Given the description of an element on the screen output the (x, y) to click on. 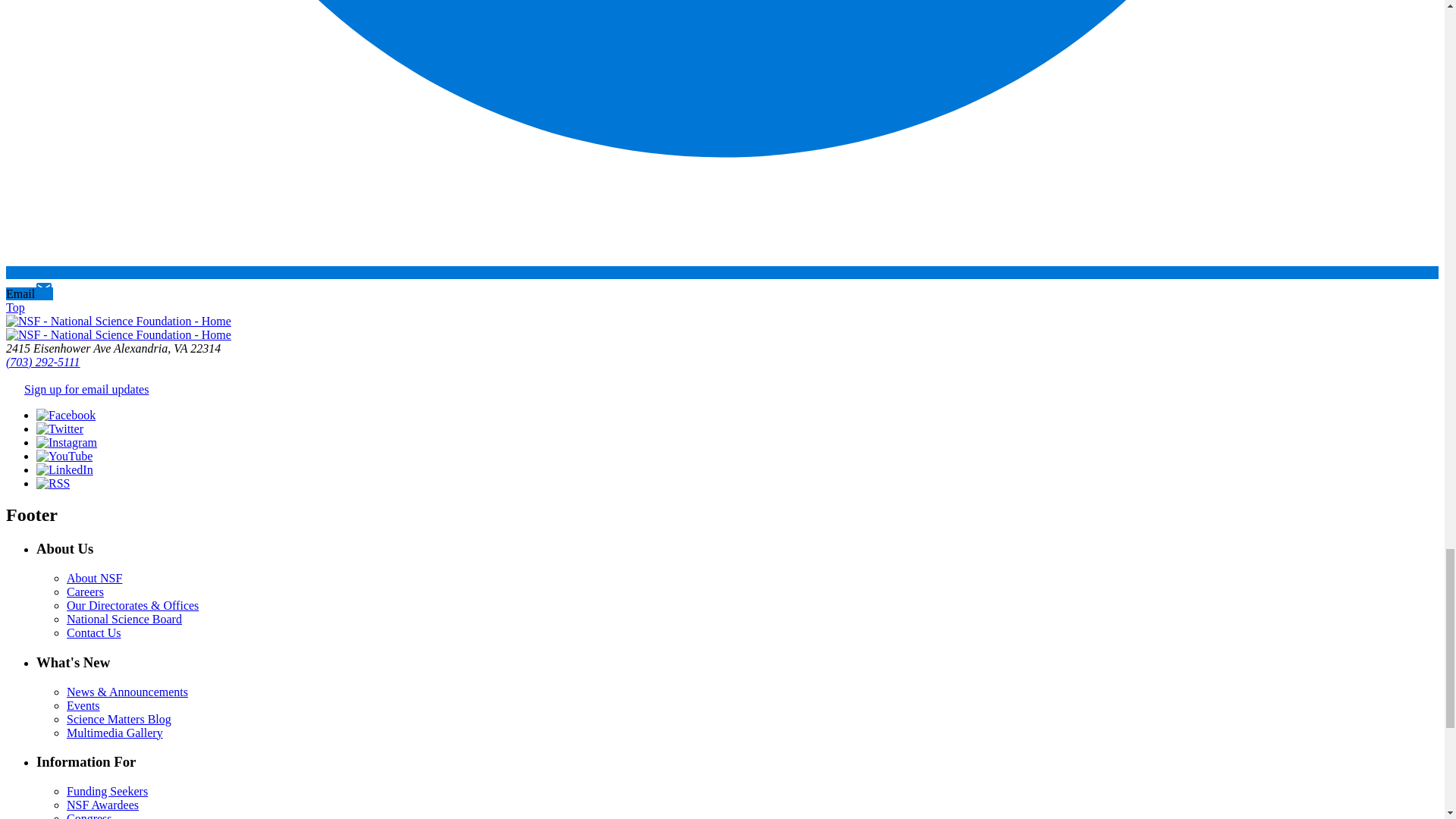
Events (83, 705)
Science Matters Blog (118, 718)
Careers (84, 591)
About NSF (94, 577)
National Science Board (124, 618)
Sign up for email updates (86, 389)
Email (28, 293)
Top (14, 307)
Multimedia Gallery (114, 732)
Contact Us (93, 632)
